Given the description of an element on the screen output the (x, y) to click on. 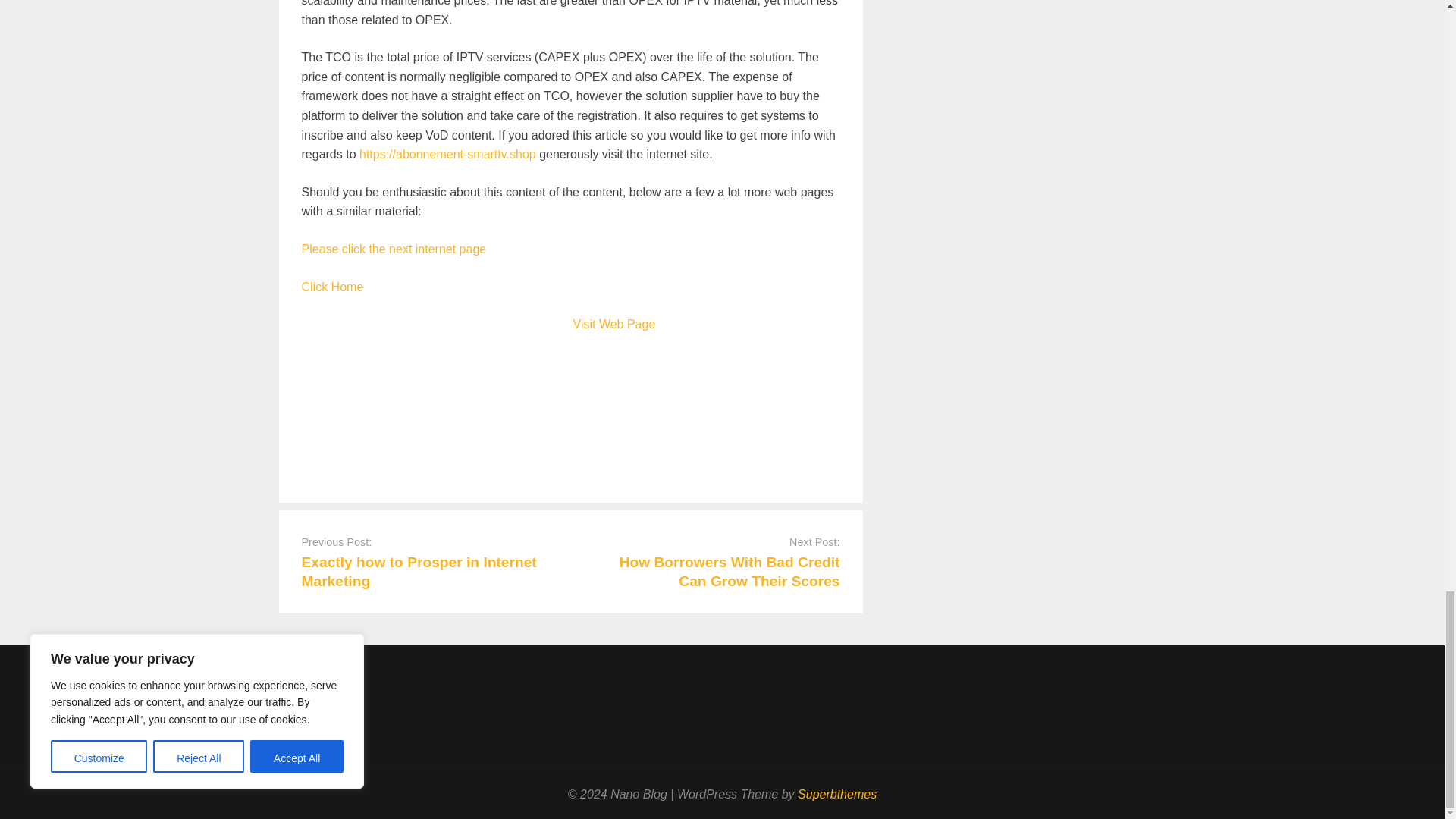
Exactly how to Prosper in Internet Marketing (419, 571)
How Borrowers With Bad Credit Can Grow Their Scores (730, 571)
Click Home (332, 286)
Visit Web Page (614, 323)
Please click the next internet page (393, 248)
